Given the description of an element on the screen output the (x, y) to click on. 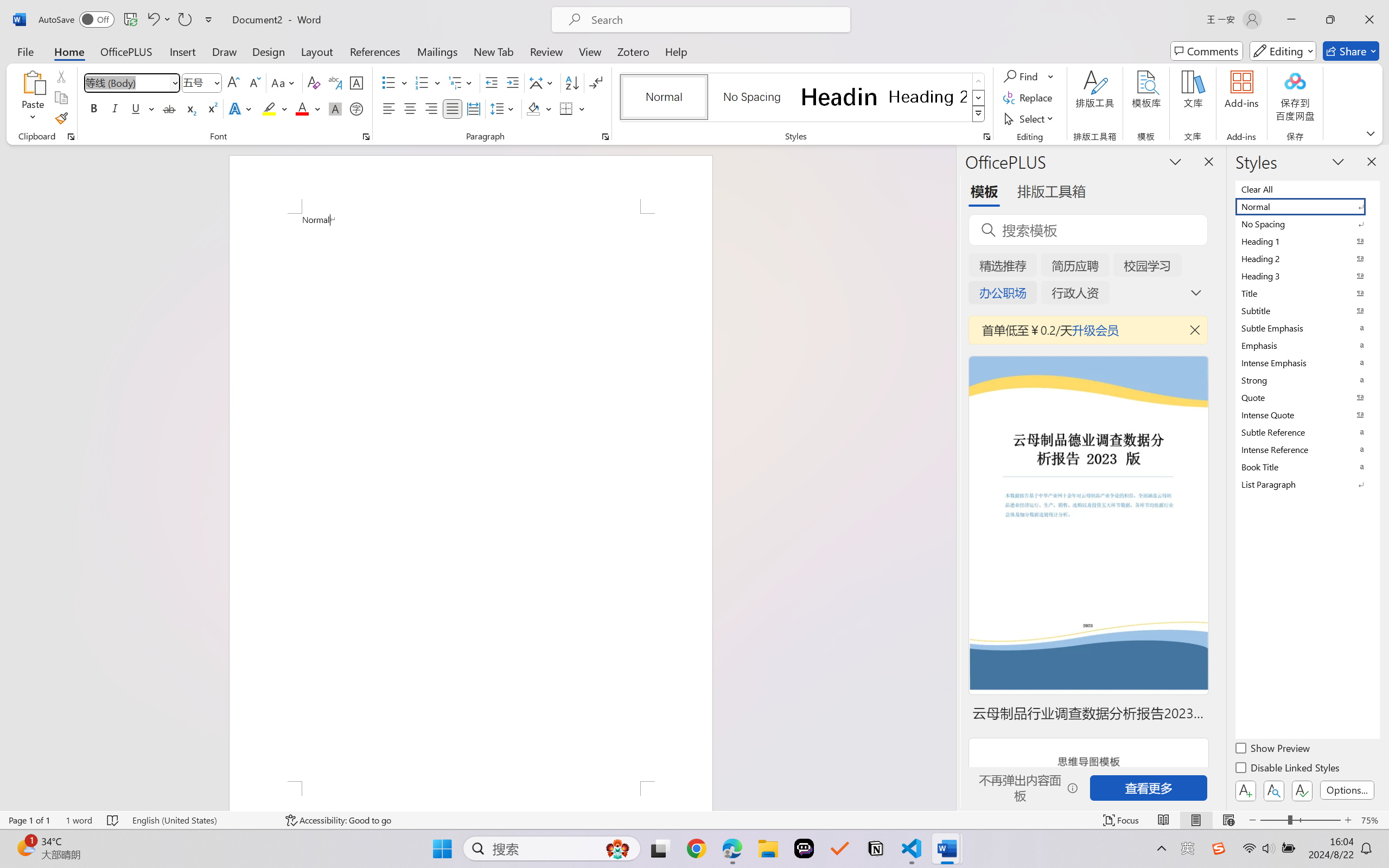
Class: MsoCommandBar (694, 819)
Mode (1283, 50)
Clear Formatting (313, 82)
Font Color Red (302, 108)
Draw (224, 51)
Zoom Out (1273, 819)
Restore Down (1330, 19)
Subtle Reference (1306, 431)
Spelling and Grammar Check No Errors (113, 819)
Shading (539, 108)
Multilevel List (461, 82)
Intense Emphasis (1306, 362)
